Given the description of an element on the screen output the (x, y) to click on. 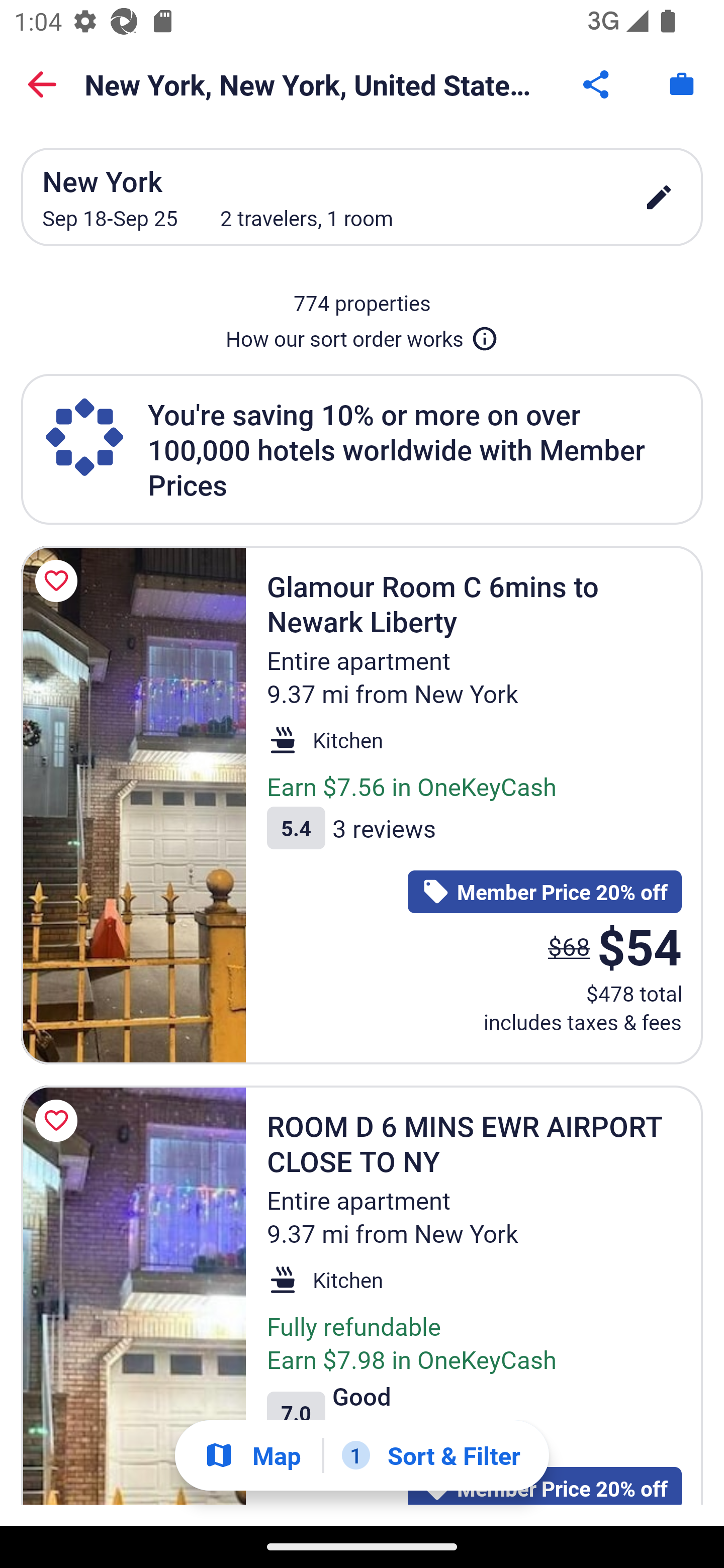
Back (42, 84)
Share Button (597, 84)
Trips. Button (681, 84)
New York Sep 18-Sep 25 2 travelers, 1 room edit (361, 196)
How our sort order works (361, 334)
Glamour Room C 6mins to Newark Liberty (133, 804)
$68 The price was $68 (569, 945)
ROOM D 6 MINS EWR AIRPORT CLOSE TO NY (133, 1295)
1 Sort & Filter 1 Filter applied. Filters Button (430, 1455)
Show map Map Show map Button (252, 1455)
